Given the description of an element on the screen output the (x, y) to click on. 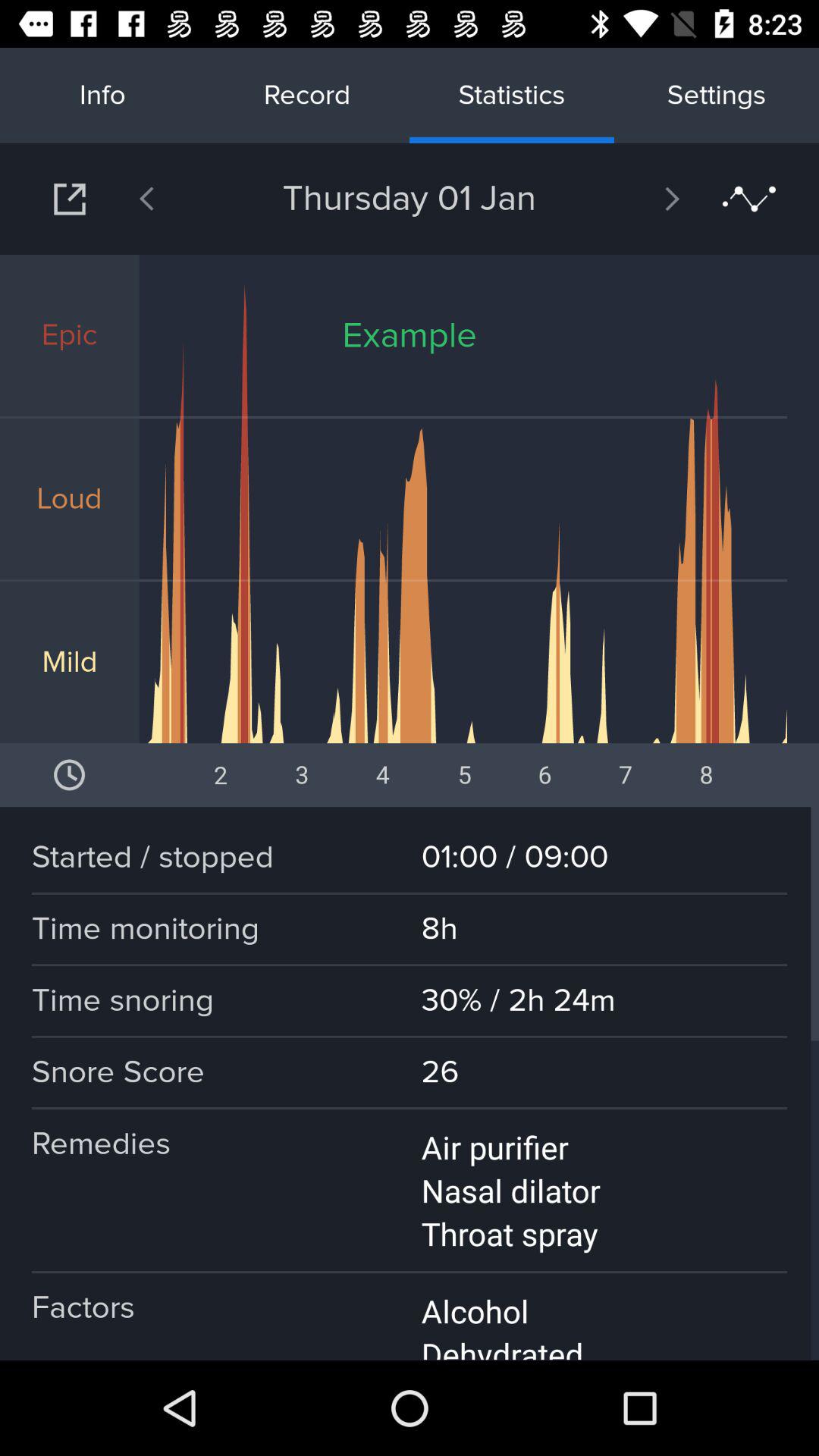
tap the app to the right of the thursday 01 jan (632, 198)
